Given the description of an element on the screen output the (x, y) to click on. 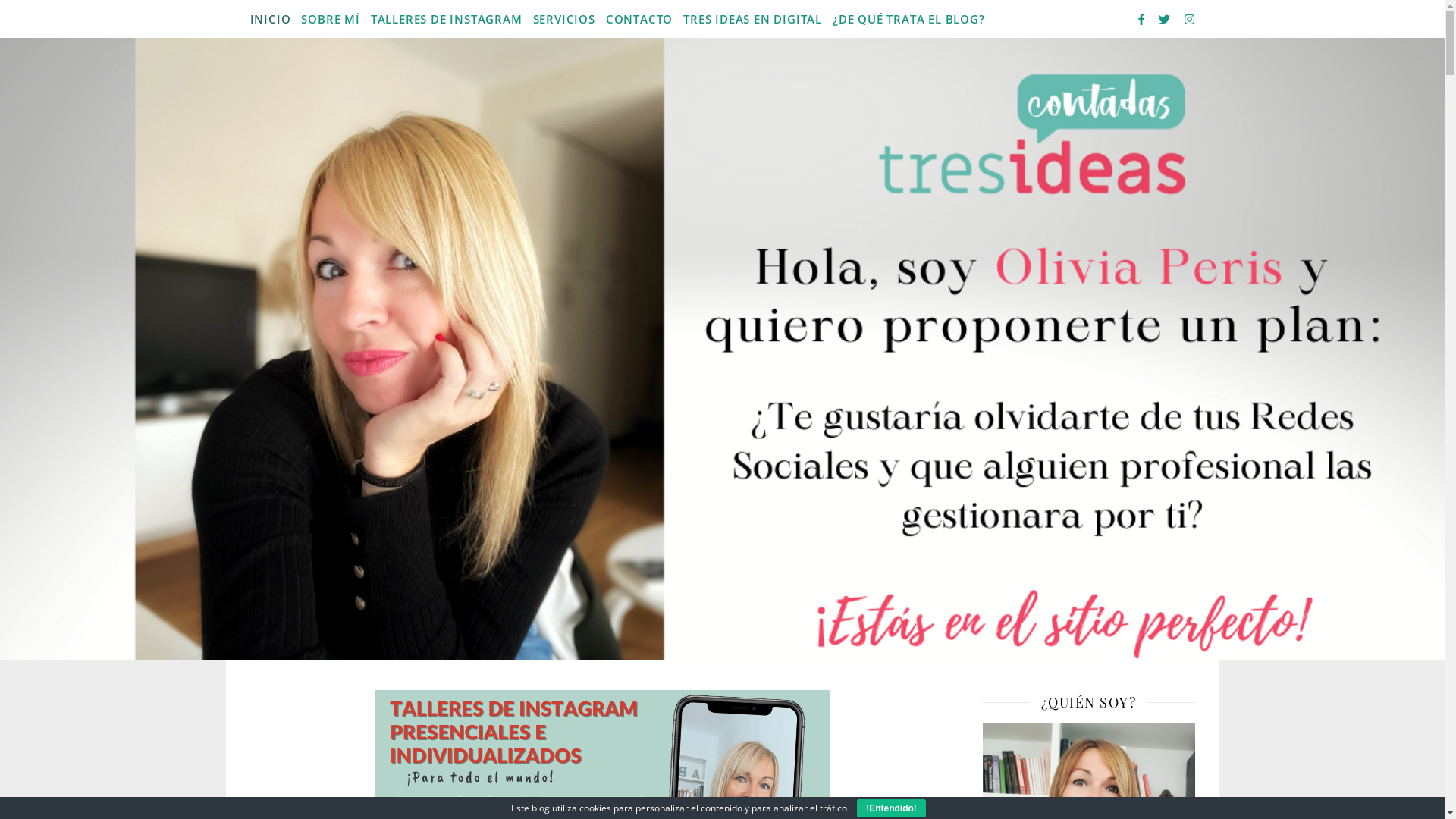
SERVICIOS Element type: text (564, 18)
TALLERES DE INSTAGRAM Element type: text (446, 18)
TRES IDEAS EN DIGITAL Element type: text (752, 18)
CONTACTO Element type: text (639, 18)
INICIO Element type: text (272, 18)
!Entendido! Element type: text (890, 808)
